Given the description of an element on the screen output the (x, y) to click on. 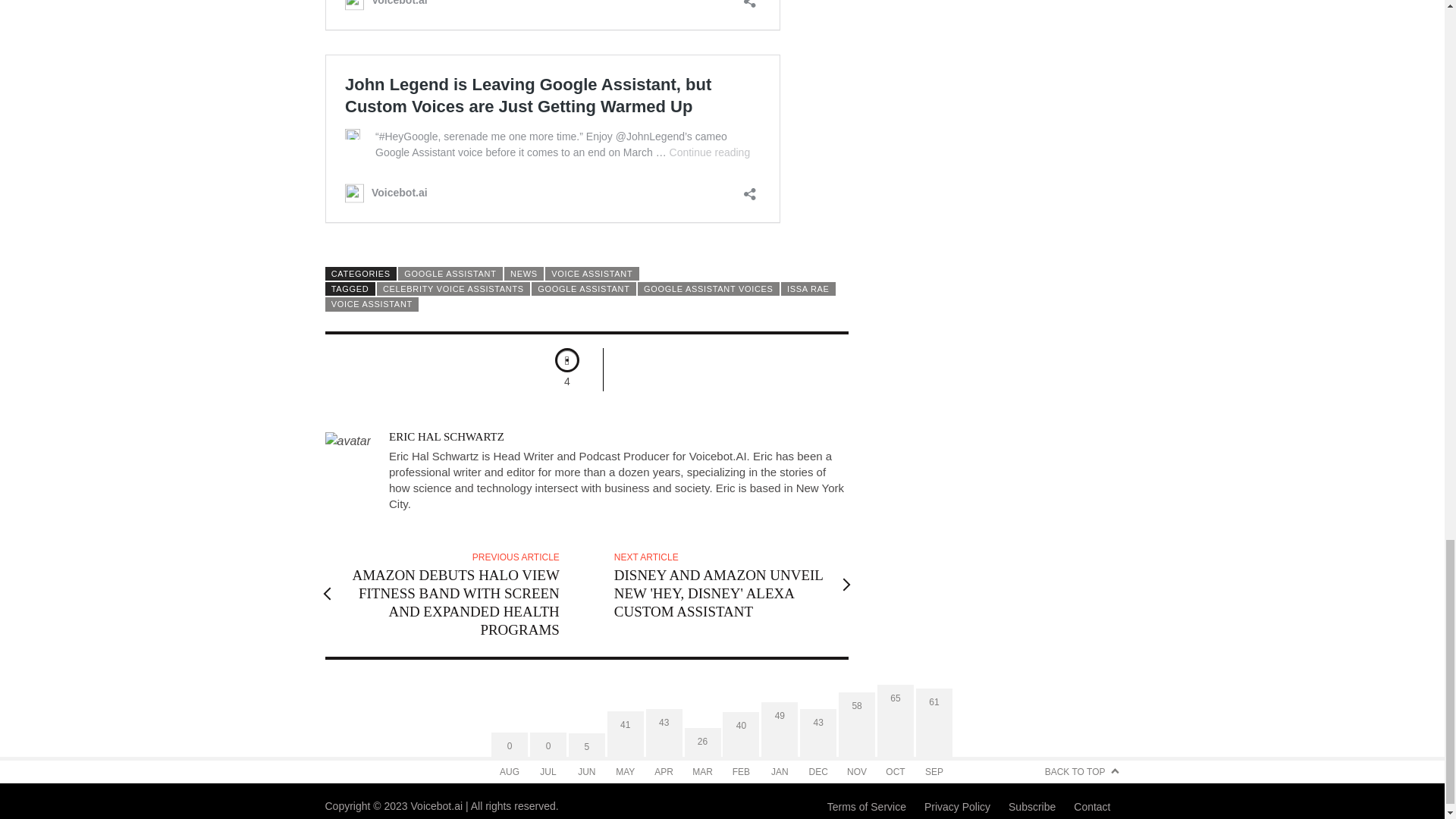
View all posts tagged Issa Rae (807, 288)
View all posts tagged celebrity voice assistants (453, 288)
View all posts in Voice Assistant (591, 273)
View all posts in News (523, 273)
Posts by Eric Hal Schwartz (445, 436)
View all posts tagged Google Assistant voices (707, 288)
View all posts tagged voice assistant (371, 304)
View all posts in Google Assistant (449, 273)
View all posts tagged Google Assistant (583, 288)
